Given the description of an element on the screen output the (x, y) to click on. 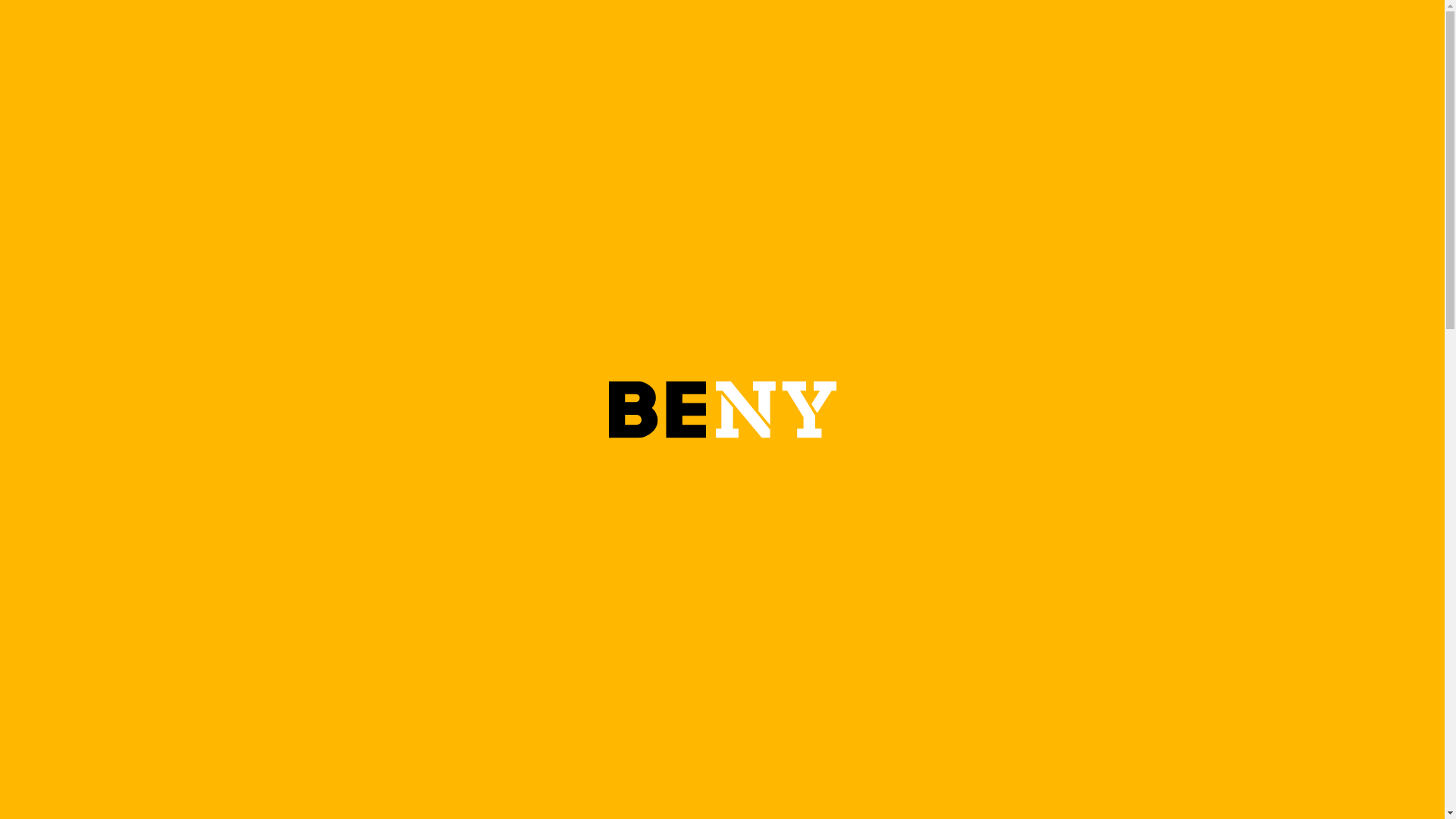
BOOK NOW Element type: text (1296, 36)
STORIES Element type: text (378, 39)
SHOP Element type: text (430, 39)
ABOUT Element type: text (478, 39)
APPLE PODCASTS Element type: text (1267, 620)
EXPERIENCES Element type: text (297, 39)
CONTACT Element type: text (585, 39)
PRESS Element type: text (528, 39)
SPOTIFY Element type: text (1122, 620)
